Given the description of an element on the screen output the (x, y) to click on. 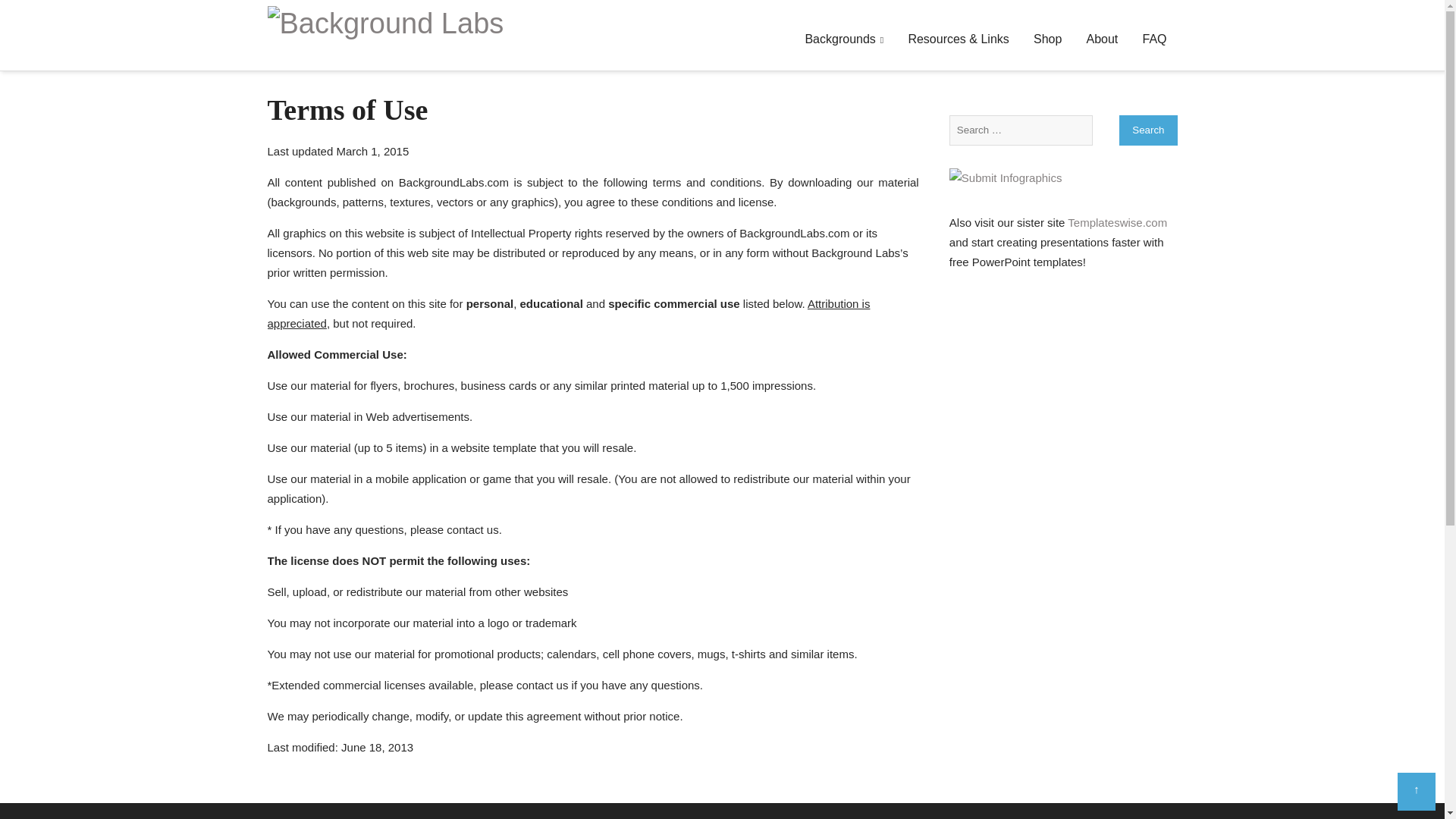
Background Labs (384, 23)
Search (1147, 130)
Templateswise.com (1117, 222)
Search (1147, 130)
About (1101, 39)
Templateswise.com (1117, 222)
Search (1147, 130)
Shop (1047, 39)
Backgrounds (843, 39)
FAQ (1153, 39)
